Given the description of an element on the screen output the (x, y) to click on. 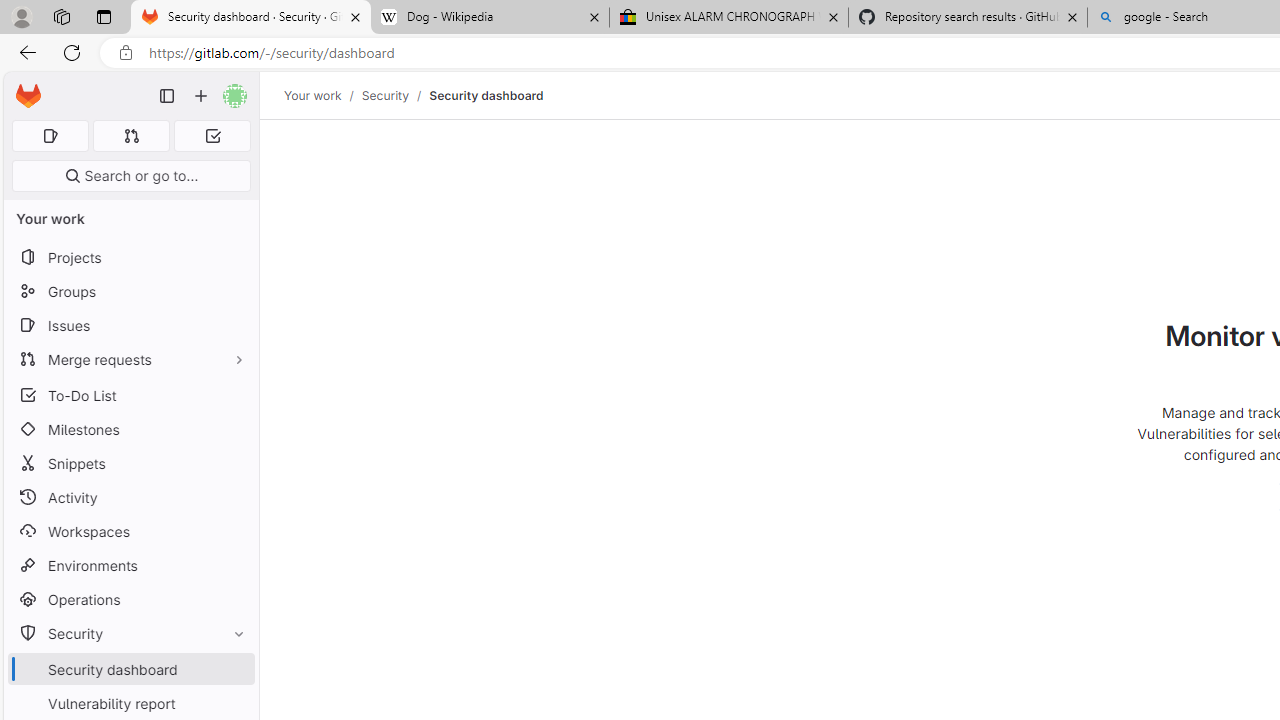
Groups (130, 291)
Operations (130, 599)
Environments (130, 564)
Your work (312, 95)
Security dashboard (486, 95)
